Given the description of an element on the screen output the (x, y) to click on. 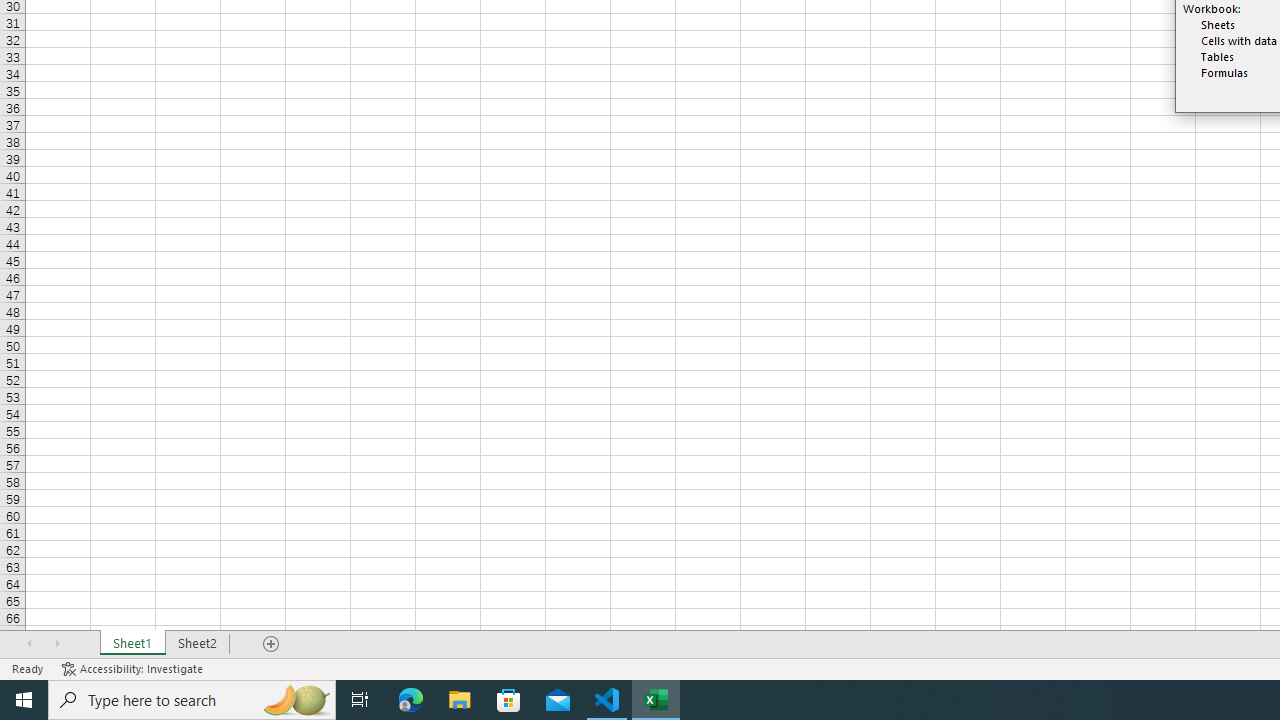
Accessibility Checker Accessibility: Investigate (134, 668)
Visual Studio Code - 1 running window (607, 699)
Task View (359, 699)
Excel - 1 running window (656, 699)
Microsoft Edge (411, 699)
File Explorer (460, 699)
Type here to search (191, 699)
Sheet1 (132, 644)
Sheet2 (197, 644)
Start (24, 699)
Microsoft Store (509, 699)
Scroll Left (29, 644)
Scroll Right (57, 644)
Add Sheet (271, 644)
